Given the description of an element on the screen output the (x, y) to click on. 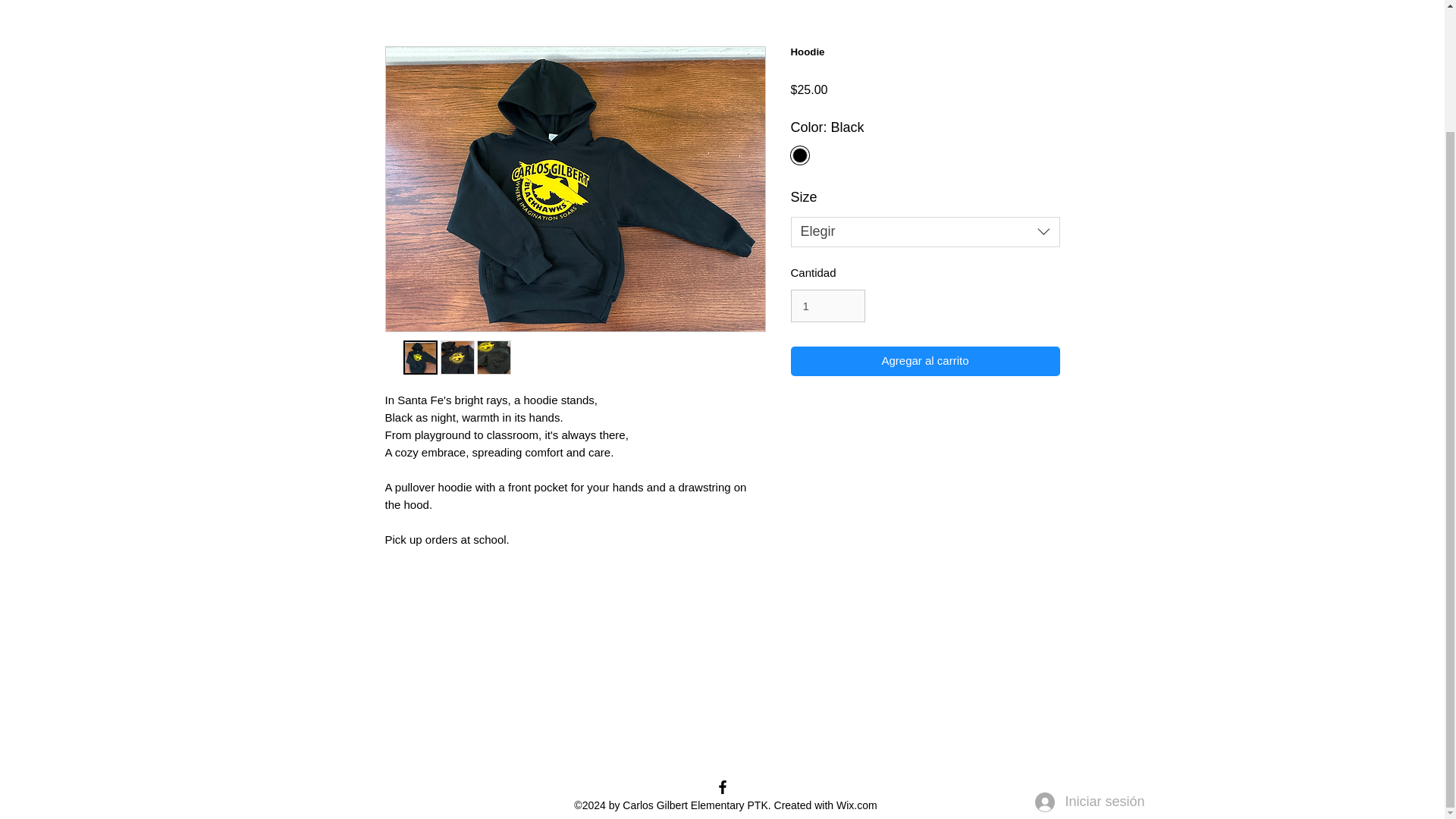
1 (827, 305)
Agregar al carrito (924, 360)
Elegir (924, 231)
